Given the description of an element on the screen output the (x, y) to click on. 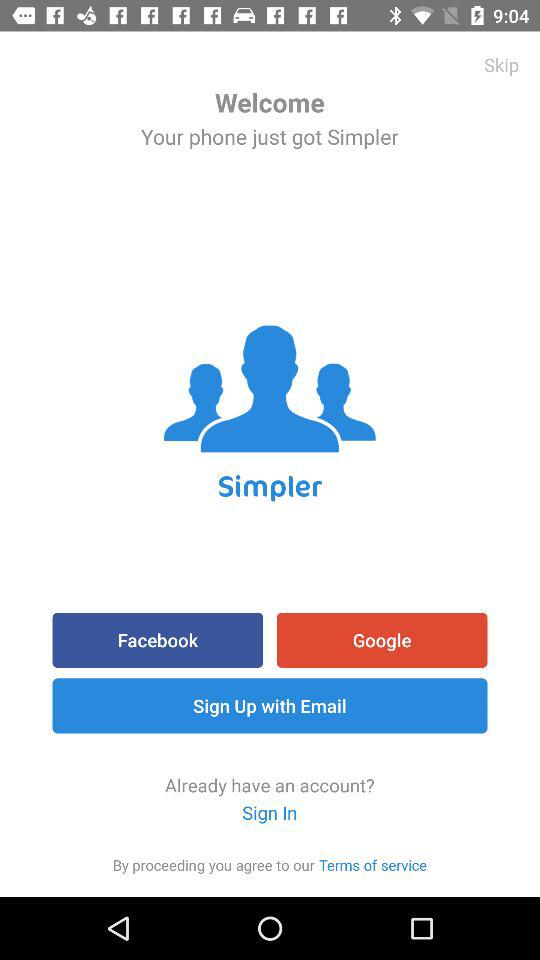
click the icon below simpler icon (157, 639)
